Given the description of an element on the screen output the (x, y) to click on. 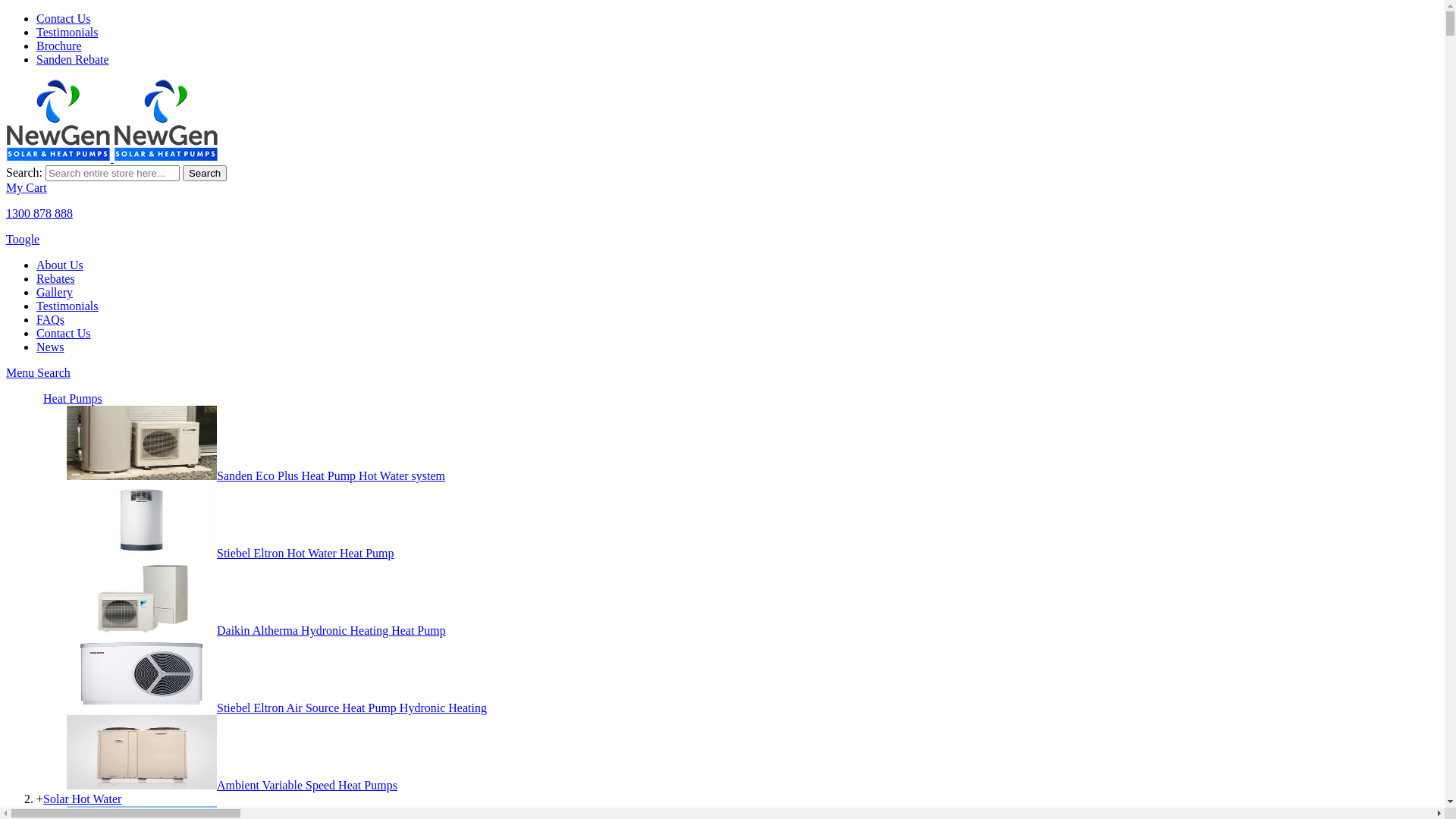
Brochure Element type: text (58, 45)
Stiebel Eltron Hot Water Heat Pump Element type: text (229, 552)
News Element type: text (49, 346)
FAQs Element type: text (50, 319)
Testimonials Element type: text (67, 305)
Toogle Element type: text (22, 238)
Ambient Variable Speed Heat Pumps Element type: text (231, 784)
Contact Us Element type: text (63, 18)
Gallery Element type: text (54, 291)
About Us Element type: text (59, 264)
Menu Element type: text (21, 372)
Search Element type: text (53, 372)
Heat Pumps Element type: text (72, 398)
Stiebel Eltron Air Source Heat Pump Hydronic Heating Element type: text (276, 707)
1300 878 888 Element type: text (39, 213)
Testimonials Element type: text (67, 31)
Sanden Rebate Element type: text (72, 59)
Solar Hot Water Element type: text (82, 798)
My Cart Element type: text (26, 187)
Contact Us Element type: text (63, 332)
Daikin Altherma Hydronic Heating Heat Pump Element type: text (255, 630)
Search Element type: text (204, 173)
NewGen Solar Element type: hover (112, 157)
Rebates Element type: text (55, 278)
Sanden Eco Plus Heat Pump Hot Water system Element type: text (255, 475)
